Given the description of an element on the screen output the (x, y) to click on. 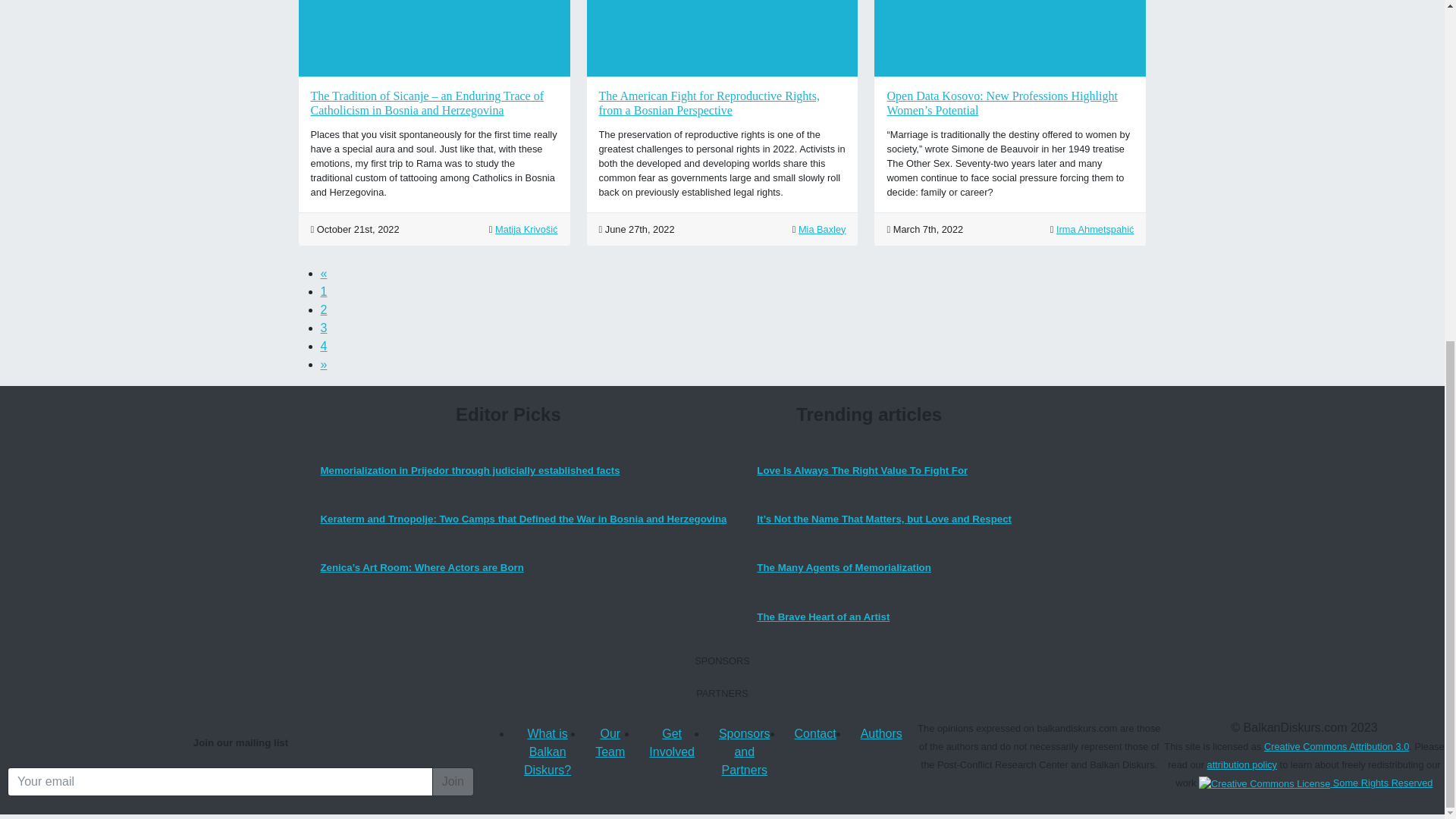
Creative Commons Attribution 3.0 (1315, 782)
